Given the description of an element on the screen output the (x, y) to click on. 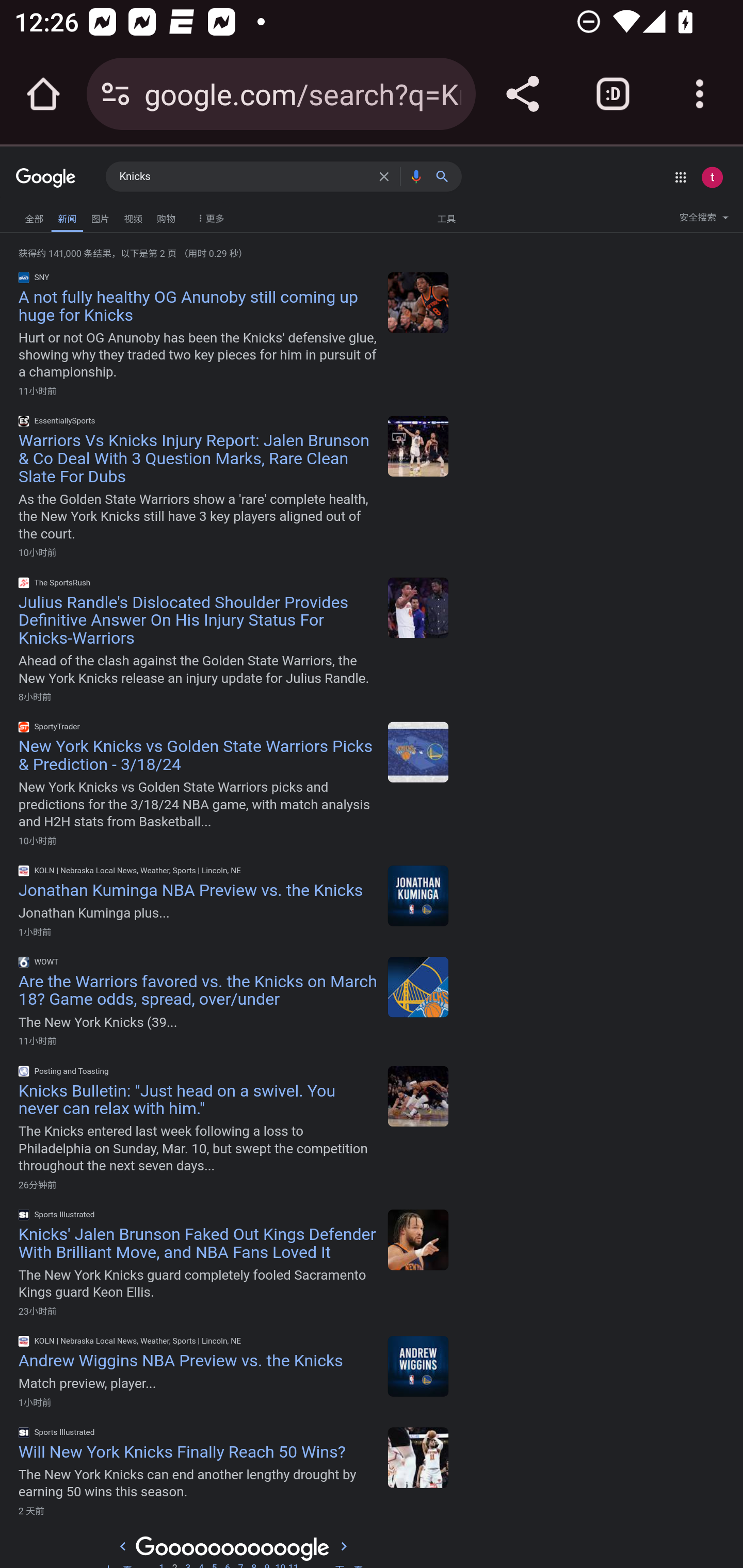
Open the home page (43, 93)
Connection is secure (115, 93)
Share (522, 93)
Switch or close tabs (612, 93)
Customize and control Google Chrome (699, 93)
清除 (386, 176)
按语音搜索 (415, 176)
Google 搜索 (446, 176)
Google 应用 (680, 176)
Google 账号： test appium (testappium002@gmail.com) (712, 176)
Google (45, 178)
全部 (33, 216)
新闻 (67, 217)
图片 (99, 216)
视频 (133, 216)
购物 (166, 216)
More Filters (208, 213)
安全搜索 (703, 219)
工具 (446, 217)
